Given the description of an element on the screen output the (x, y) to click on. 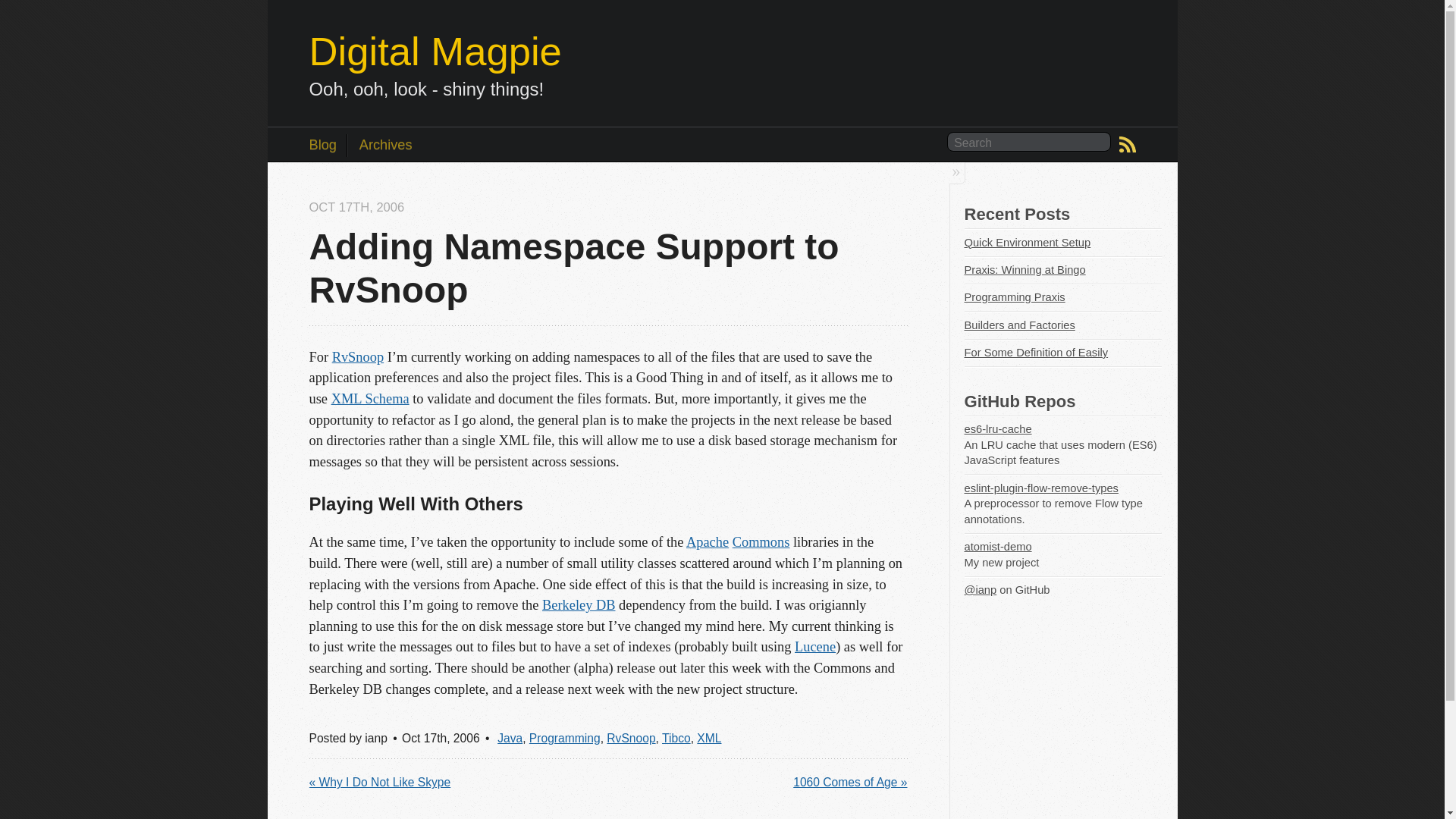
RvSnoop (631, 738)
Next Post: 1060 Comes of Age (850, 782)
Programming (564, 738)
Archives (379, 146)
Java (509, 738)
Berkeley DB (578, 604)
Lucene (814, 646)
Tibco (676, 738)
RvSnoop (357, 356)
Previous Post: Why I Do Not Like Skype (379, 782)
